Given the description of an element on the screen output the (x, y) to click on. 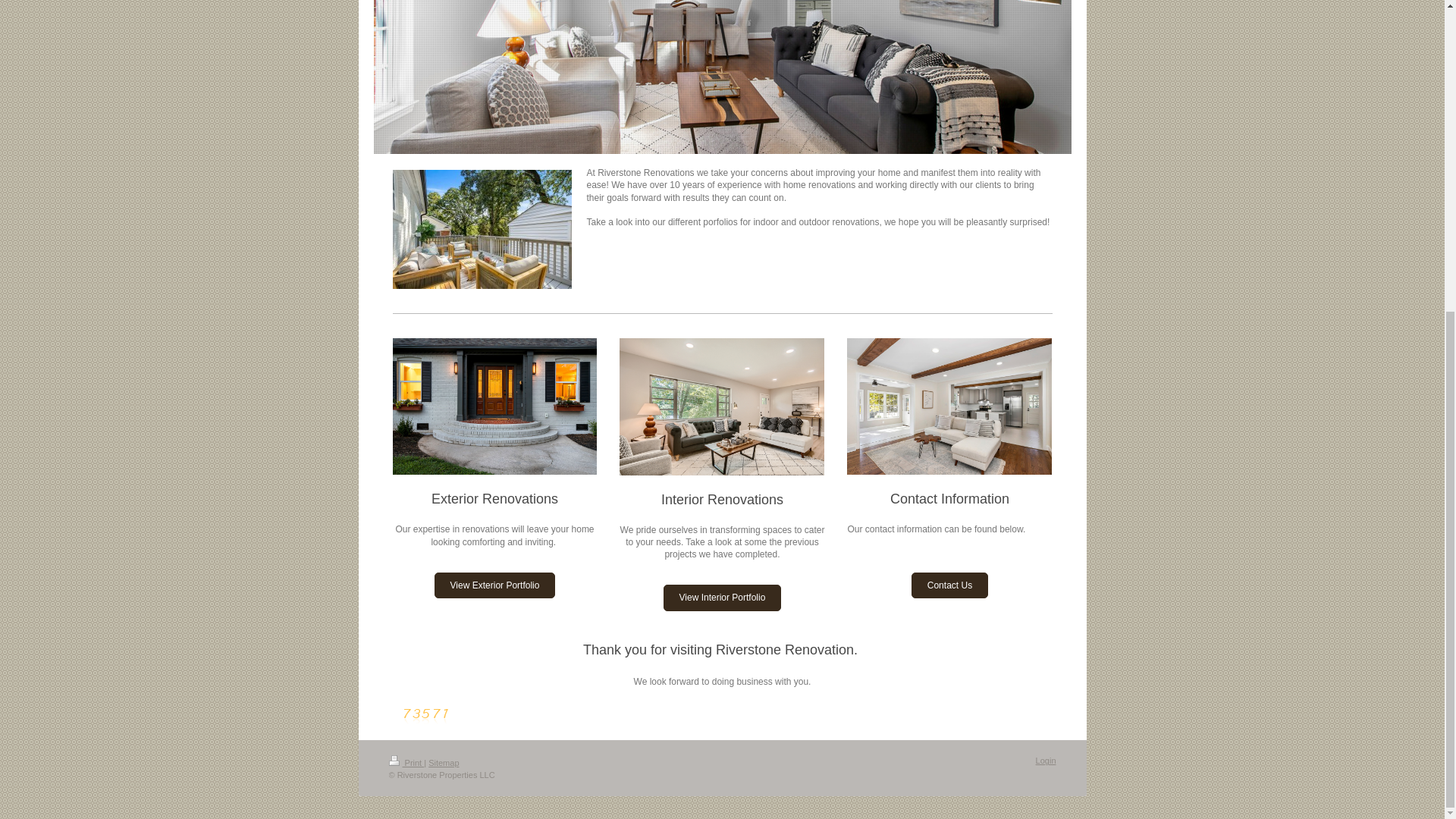
Login (1046, 759)
Sitemap (443, 762)
View Interior Portfolio (722, 597)
Print (405, 762)
View Exterior Portfolio (494, 585)
Contact Us (949, 585)
